Given the description of an element on the screen output the (x, y) to click on. 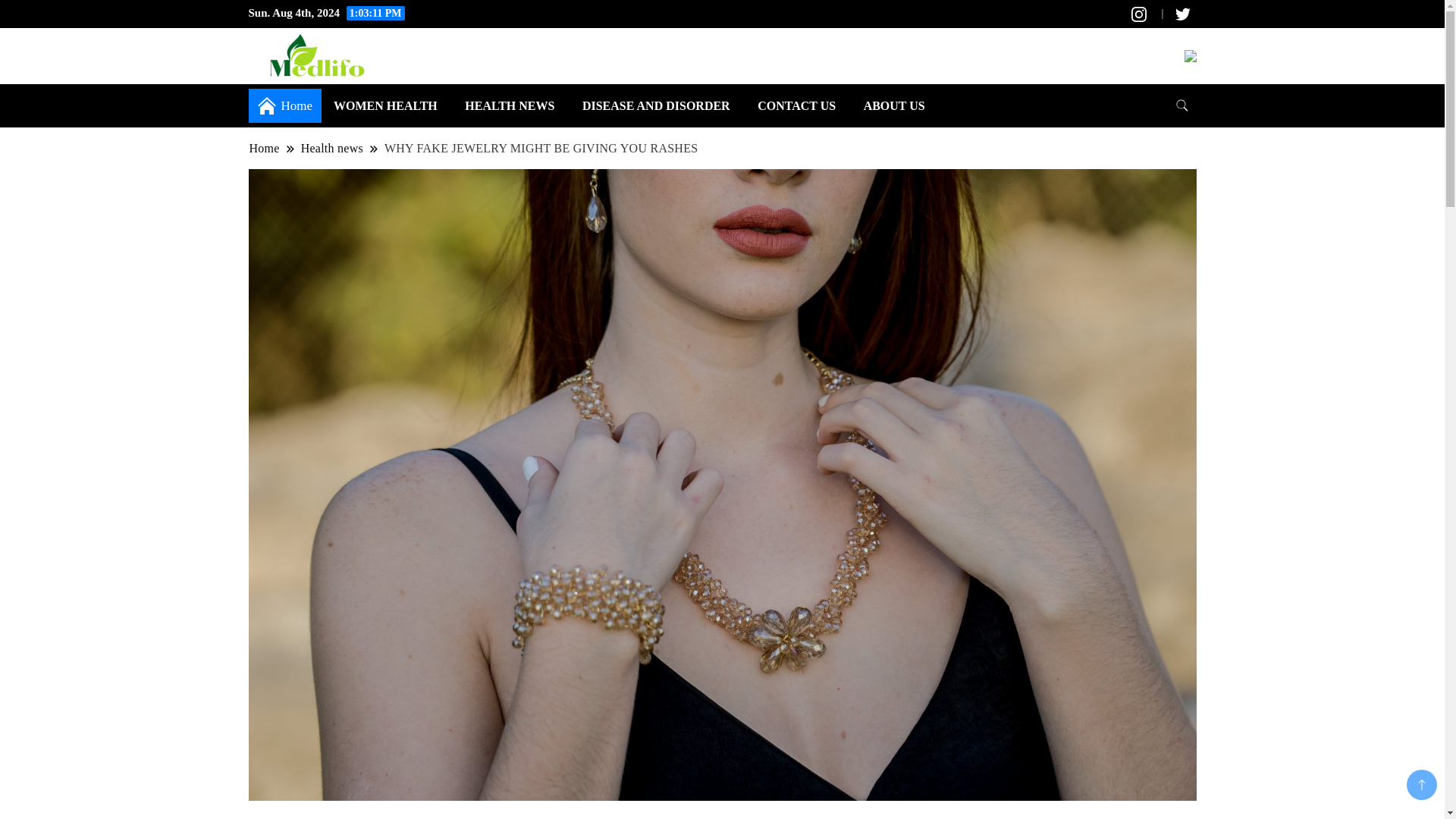
HEALTH NEWS (509, 105)
Health news (331, 147)
WHY FAKE JEWELRY MIGHT BE GIVING YOU RASHES (541, 147)
DISEASE AND DISORDER (656, 105)
CONTACT US (796, 105)
WOMEN HEALTH (385, 105)
ABOUT US (894, 105)
Home (264, 147)
